Given the description of an element on the screen output the (x, y) to click on. 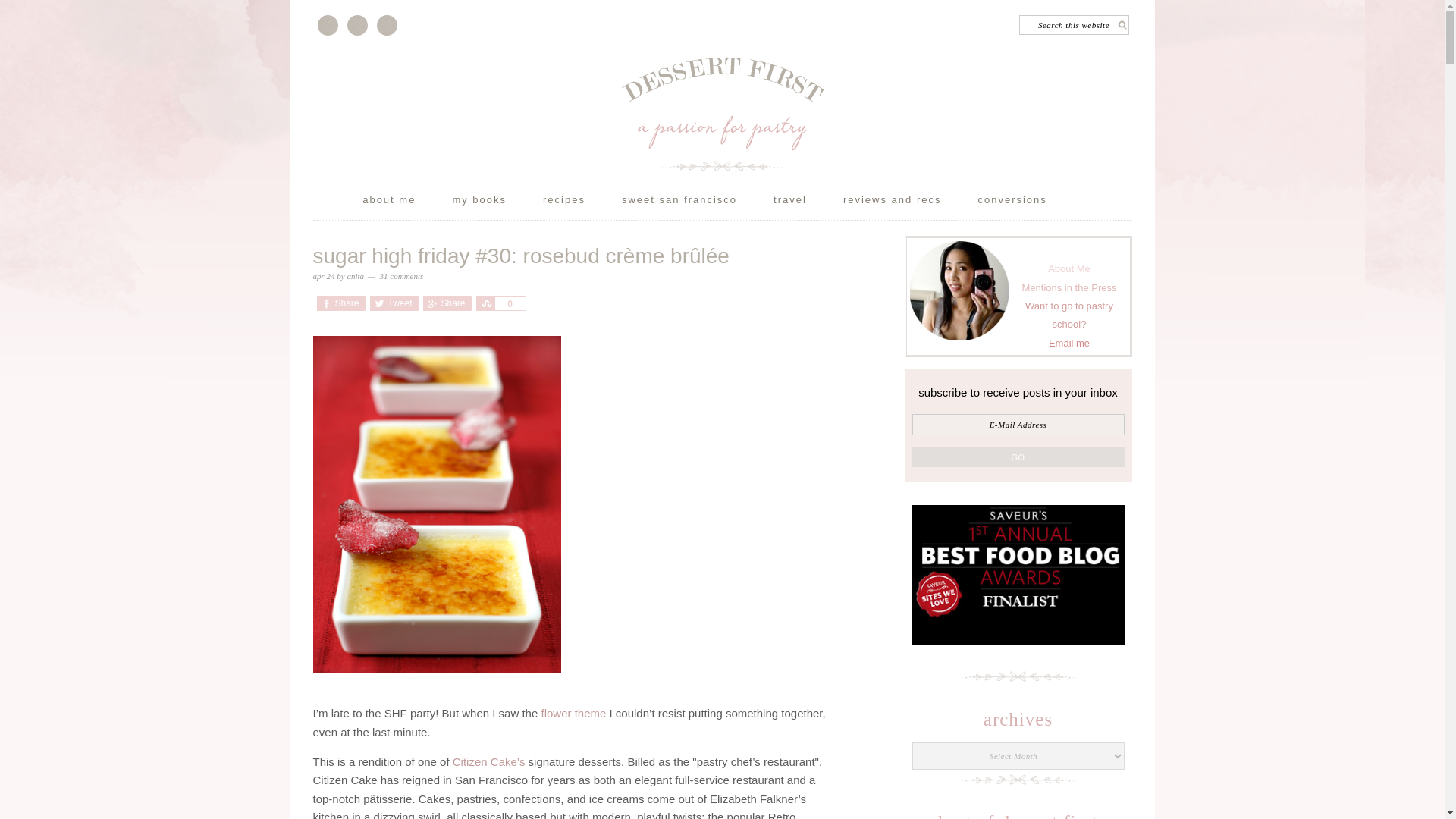
my books (496, 203)
Search (1132, 18)
sweet san francisco (696, 203)
anita (355, 275)
Go (1017, 456)
recipes (581, 203)
Search (1132, 18)
conversions (1028, 203)
31 comments (401, 275)
travel (807, 203)
